Given the description of an element on the screen output the (x, y) to click on. 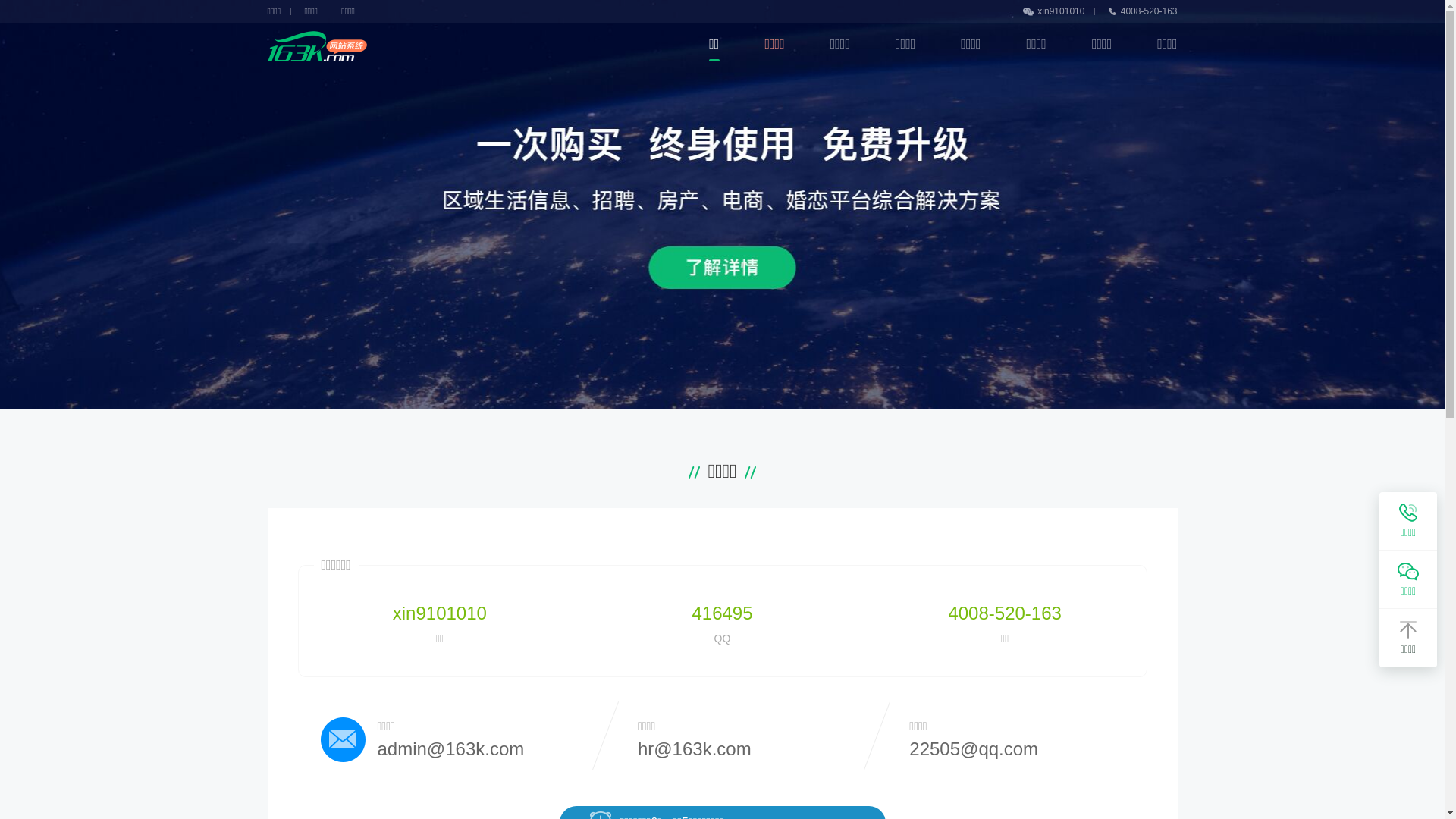
416495 Element type: text (721, 612)
xin9101010 Element type: text (1058, 11)
4008-520-163 Element type: text (1003, 612)
xin9101010 Element type: text (439, 612)
4008-520-163 Element type: text (1142, 11)
